Given the description of an element on the screen output the (x, y) to click on. 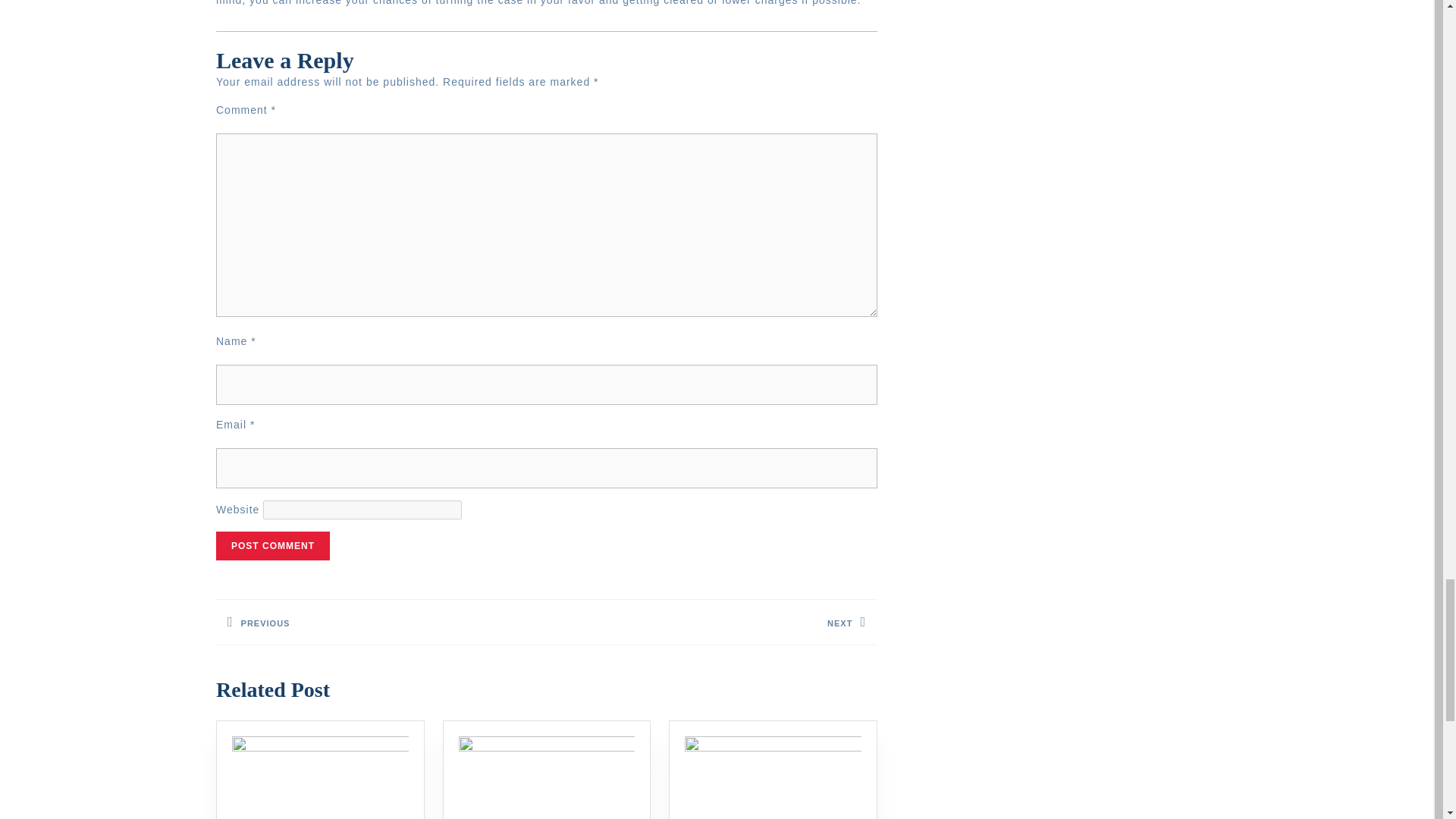
Post Comment (712, 621)
Post Comment (272, 545)
